Given the description of an element on the screen output the (x, y) to click on. 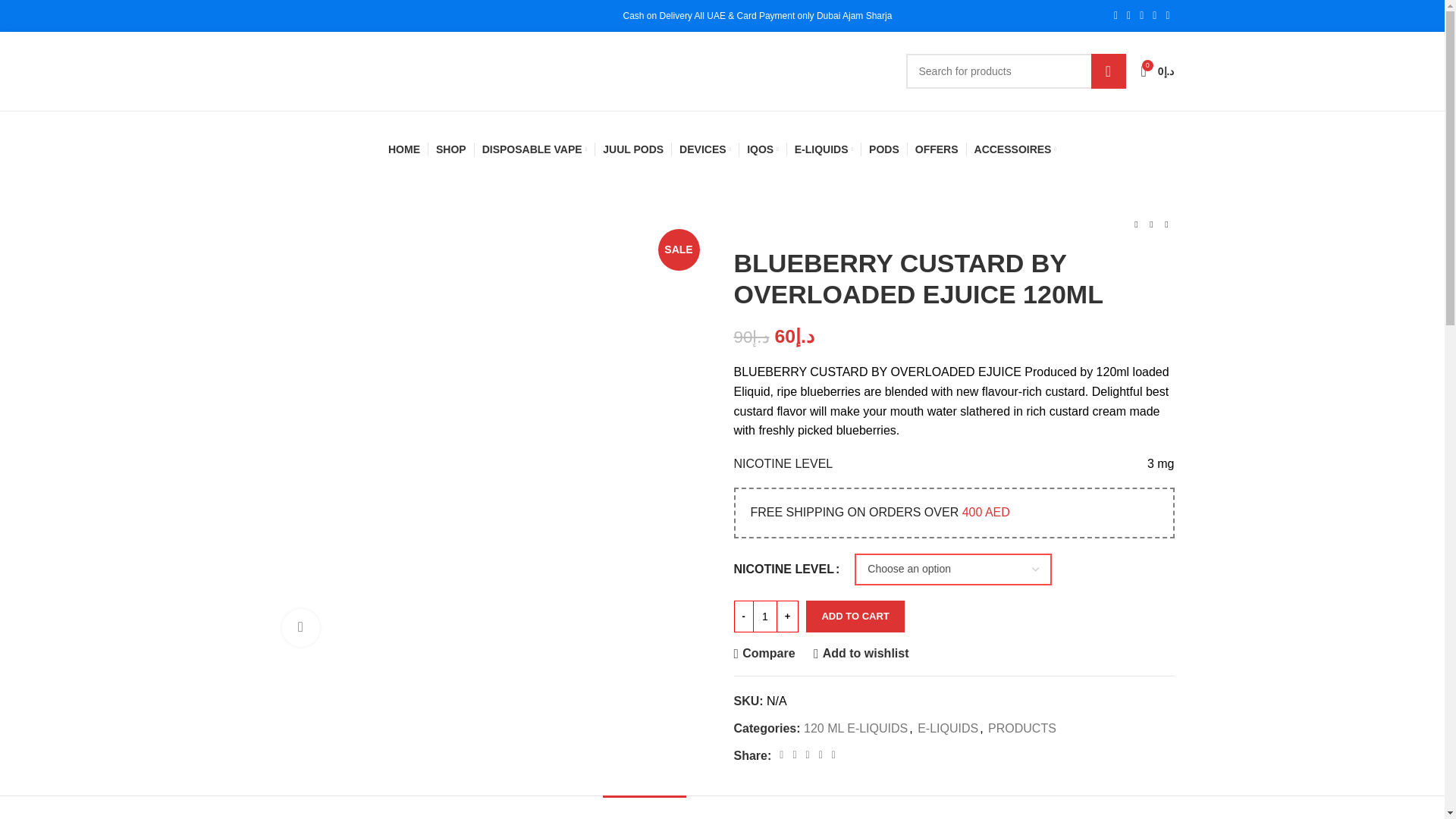
DISPOSABLE VAPE (534, 149)
IQOS (762, 149)
HOME (404, 149)
Search for products (1015, 71)
DEVICES (704, 149)
SEARCH (1107, 71)
Shopping cart (1156, 71)
E-LIQUIDS (823, 149)
SHOP (450, 149)
JUUL PODS (632, 149)
